Given the description of an element on the screen output the (x, y) to click on. 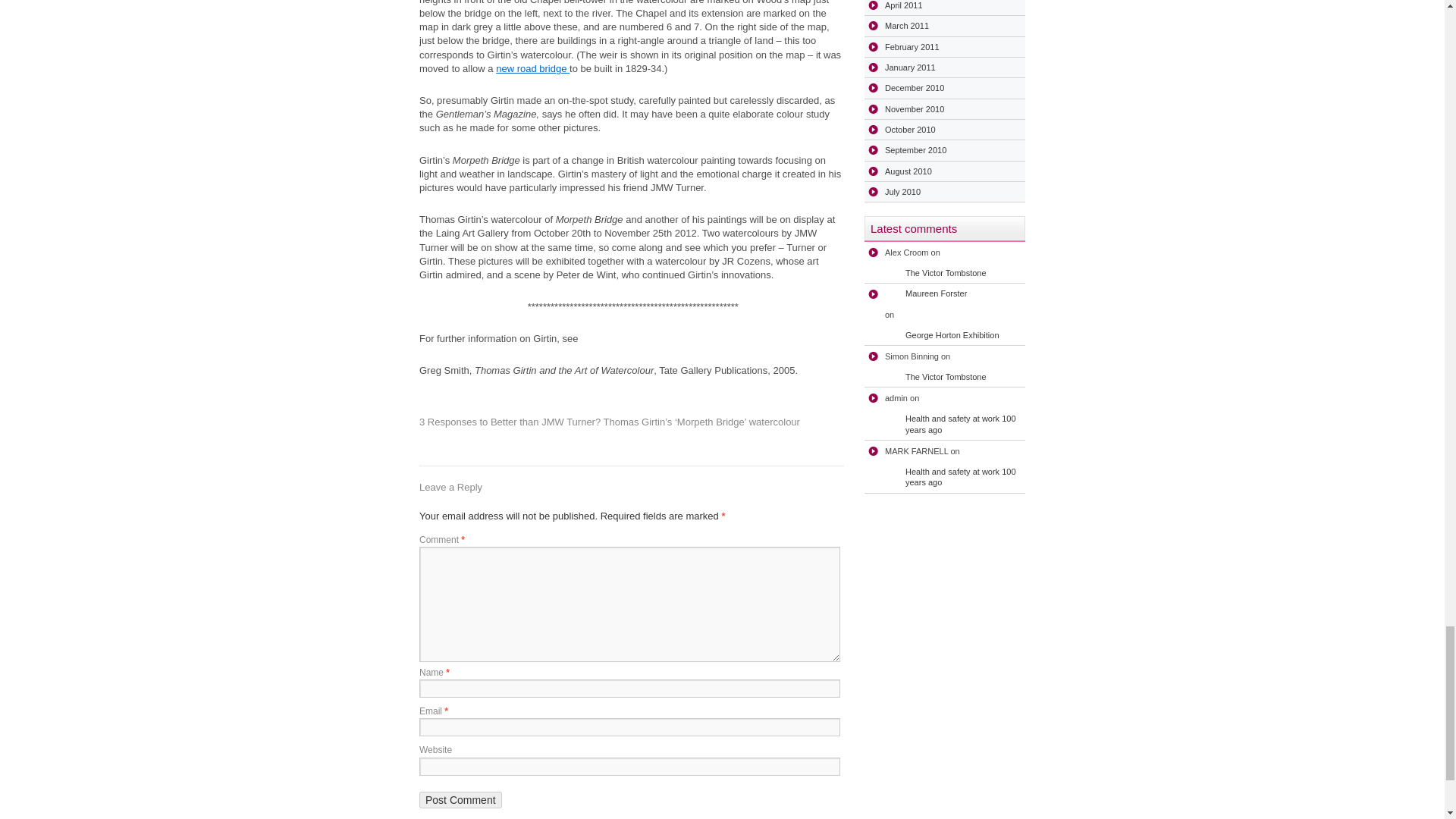
Post Comment (460, 799)
Post Comment (460, 799)
new road bridge (532, 68)
